Given the description of an element on the screen output the (x, y) to click on. 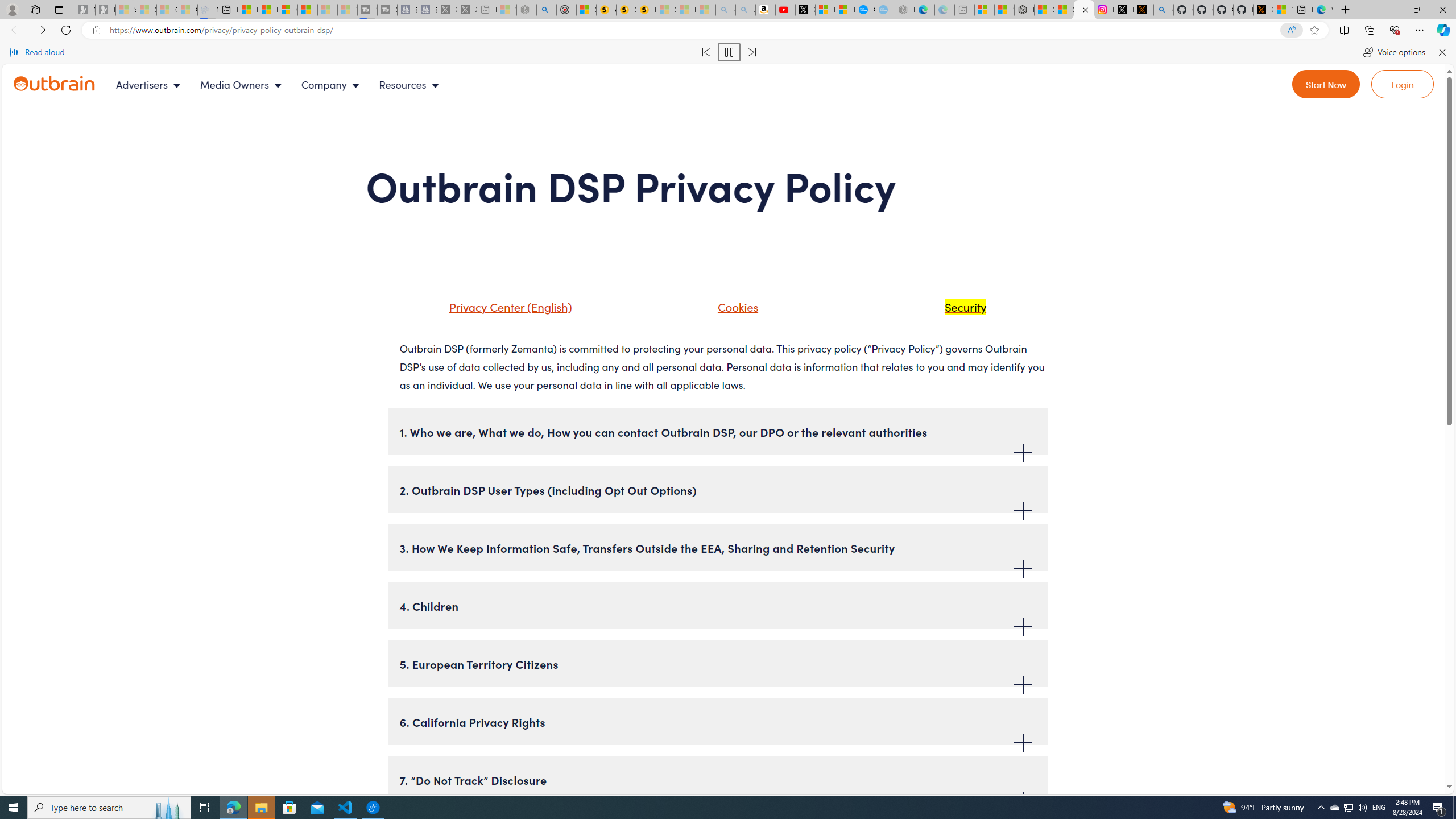
Wildlife - MSN - Sleeping (506, 9)
amazon - Search - Sleeping (725, 9)
Overview (287, 9)
help.x.com | 524: A timeout occurred (1143, 9)
X (804, 9)
Company (333, 84)
